Given the description of an element on the screen output the (x, y) to click on. 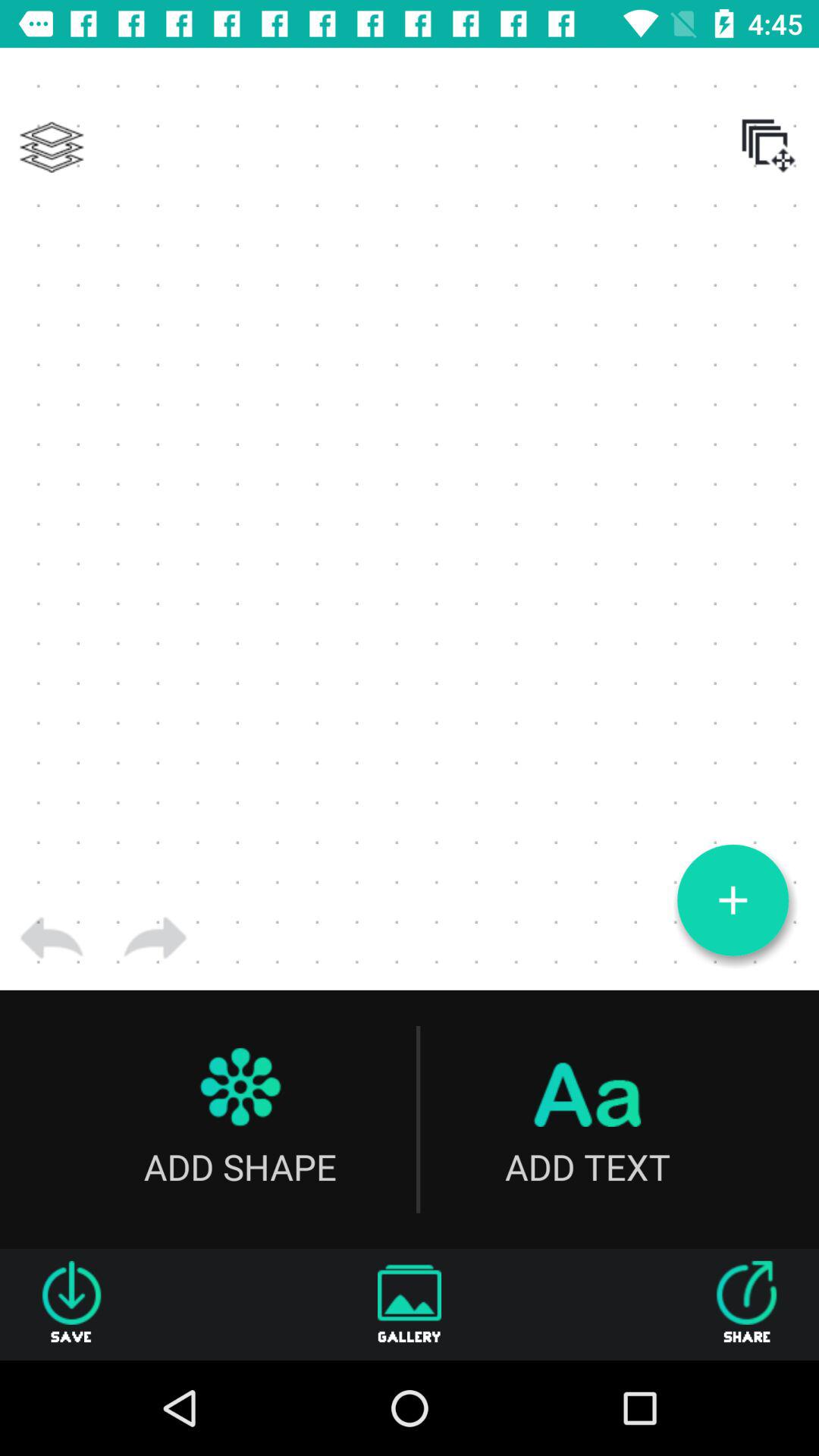
select the item above add shape item (155, 938)
